Given the description of an element on the screen output the (x, y) to click on. 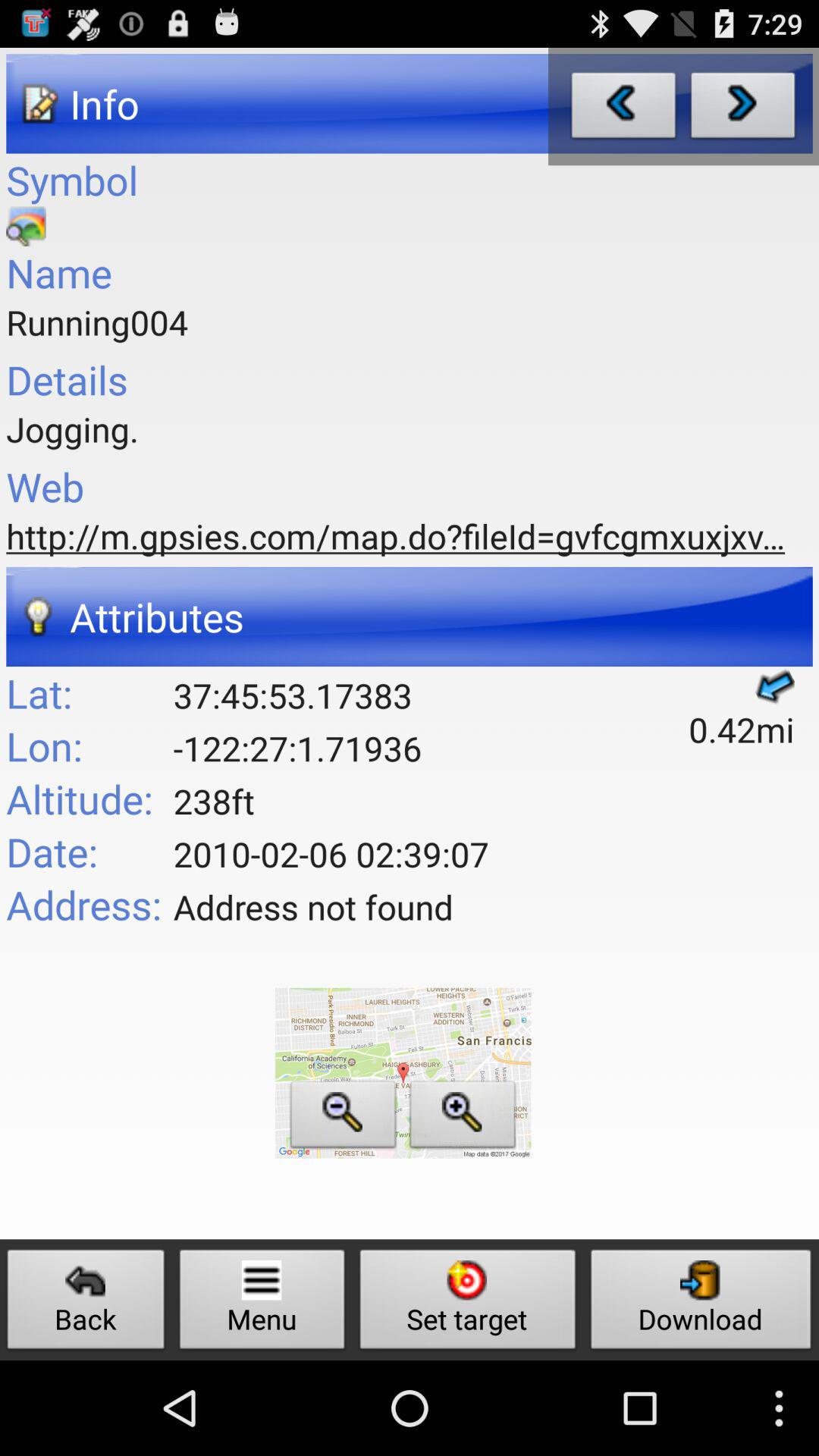
choose button to the right of back item (262, 1303)
